Given the description of an element on the screen output the (x, y) to click on. 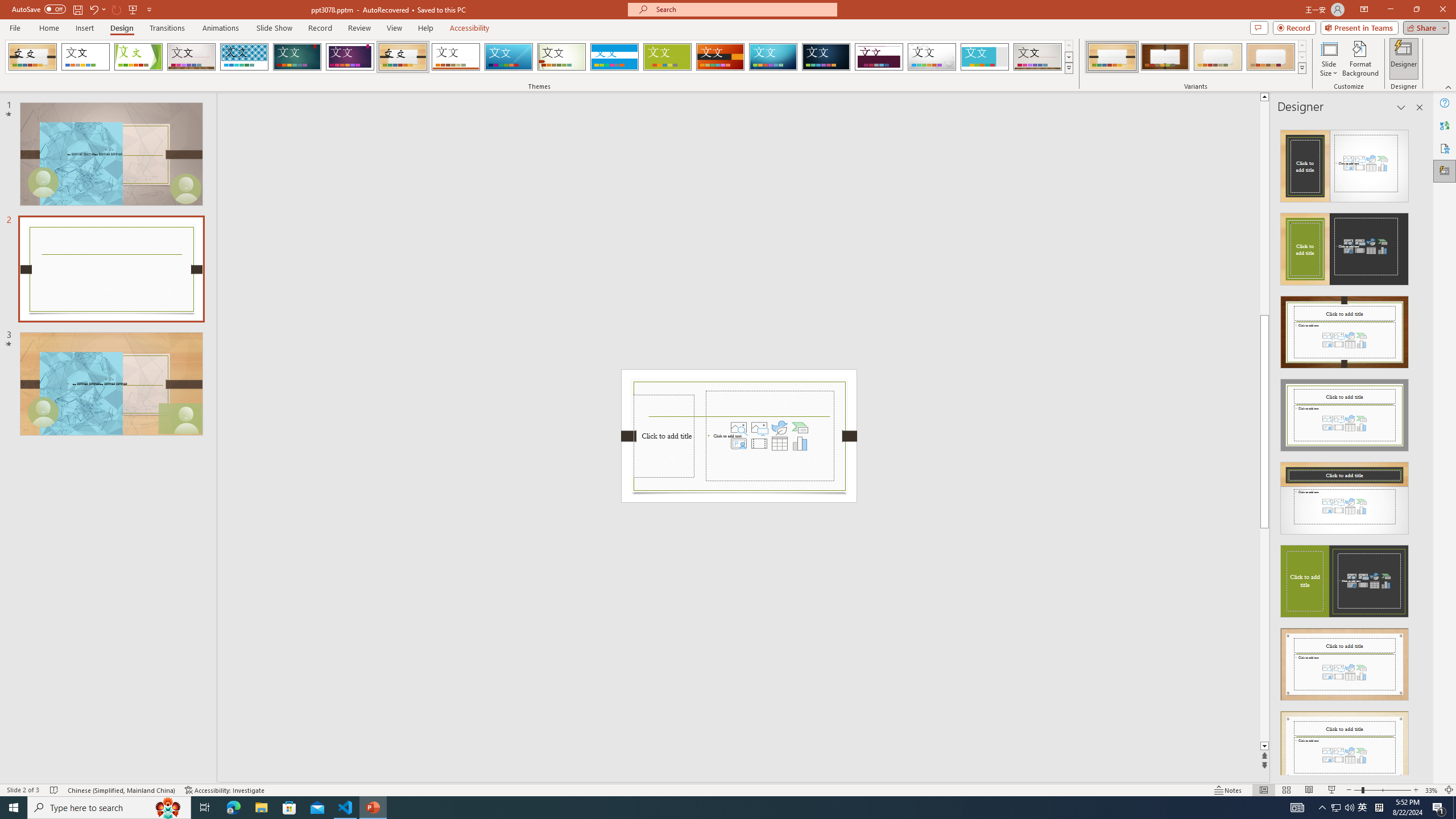
Integral (244, 56)
Facet (138, 56)
Organic Variant 2 (1164, 56)
Recommended Design: Design Idea (1344, 162)
Ion (296, 56)
Insert Table (779, 443)
